Given the description of an element on the screen output the (x, y) to click on. 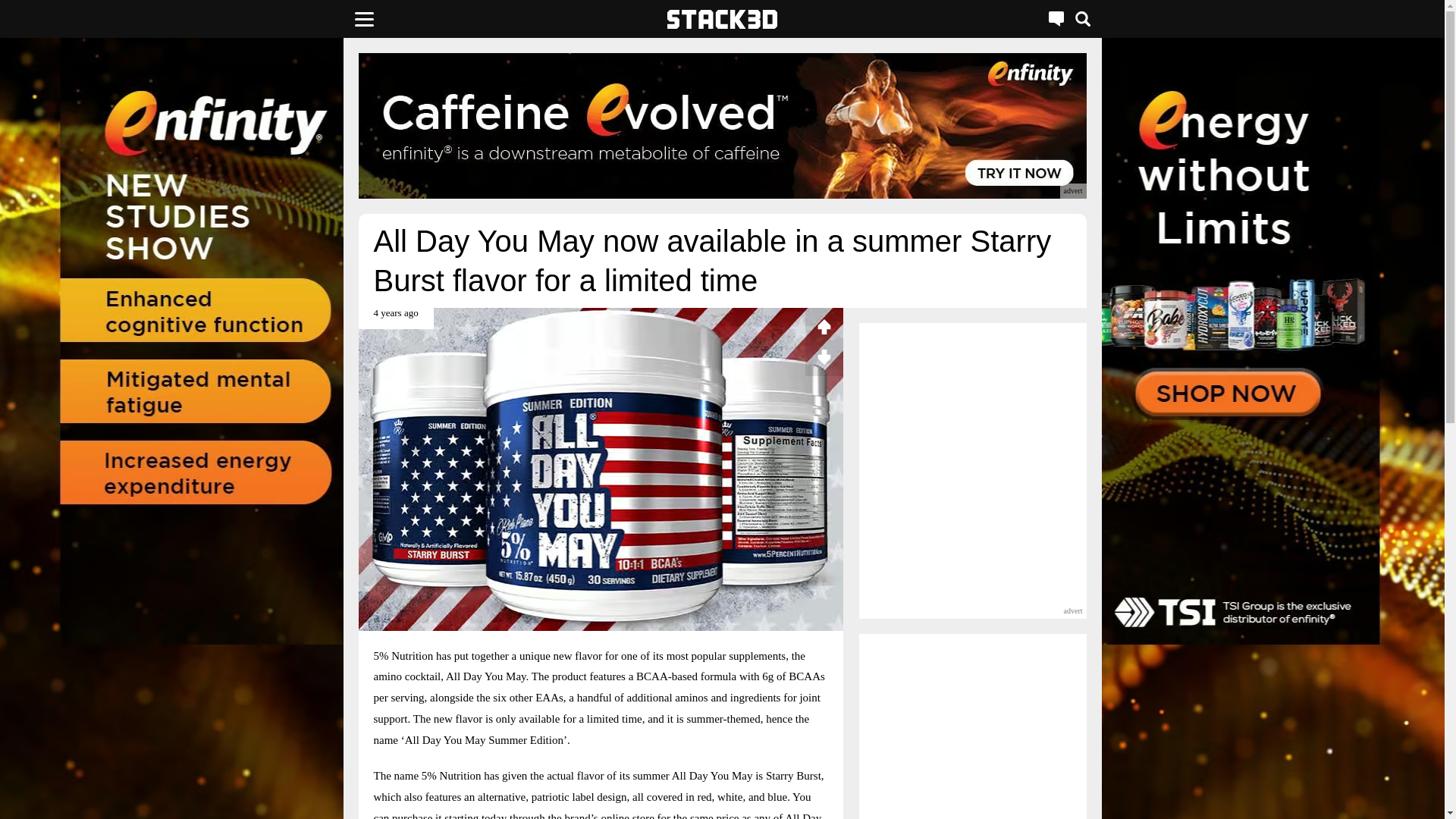
July 14th 2020 (395, 318)
online store (626, 815)
